Given the description of an element on the screen output the (x, y) to click on. 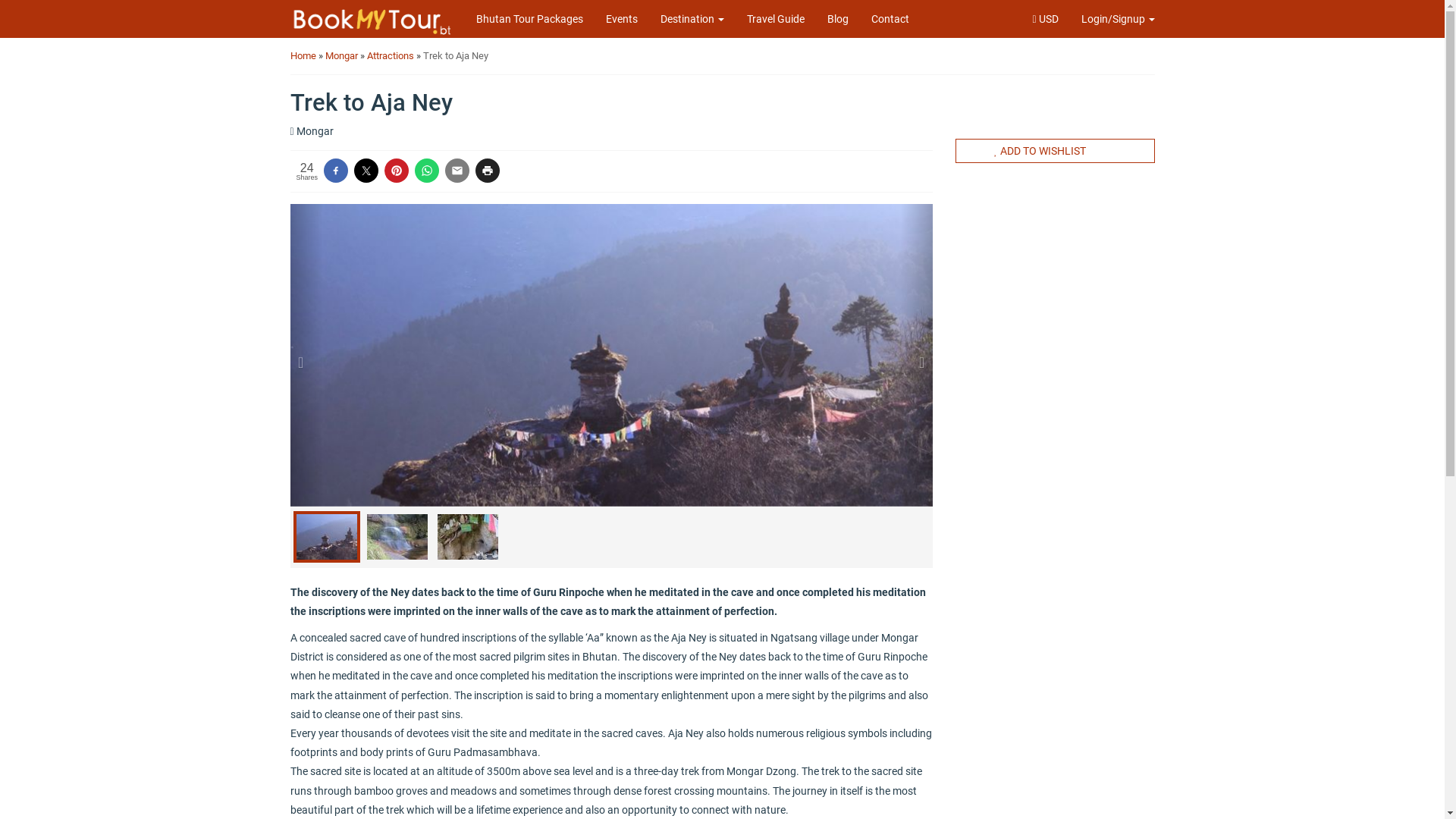
Bhutan Tour Packages Element type: text (528, 18)
ADD TO WISHLIST Element type: text (1054, 150)
Contact Element type: text (889, 18)
Home Element type: text (303, 55)
Destination Element type: text (692, 18)
USD Element type: text (1044, 18)
Next Element type: text (916, 354)
Login/Signup Element type: text (1117, 18)
Blog Element type: text (837, 18)
Mongar Element type: text (341, 55)
Events Element type: text (621, 18)
Trek to Aja Ney Element type: text (455, 55)
Previous Element type: text (305, 354)
Travel Guide Element type: text (775, 18)
Attractions Element type: text (391, 55)
BookMyTour Element type: hover (372, 21)
